Given the description of an element on the screen output the (x, y) to click on. 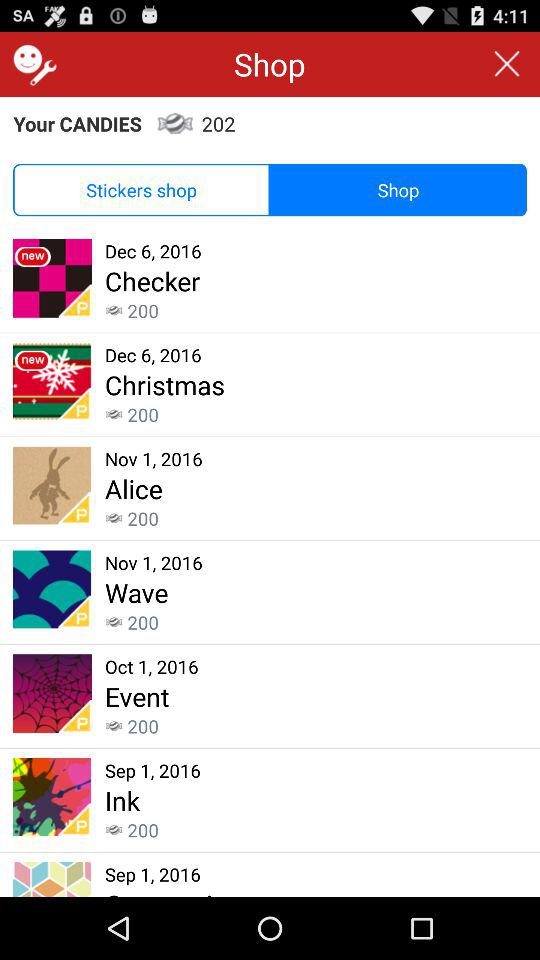
tools (32, 64)
